Given the description of an element on the screen output the (x, y) to click on. 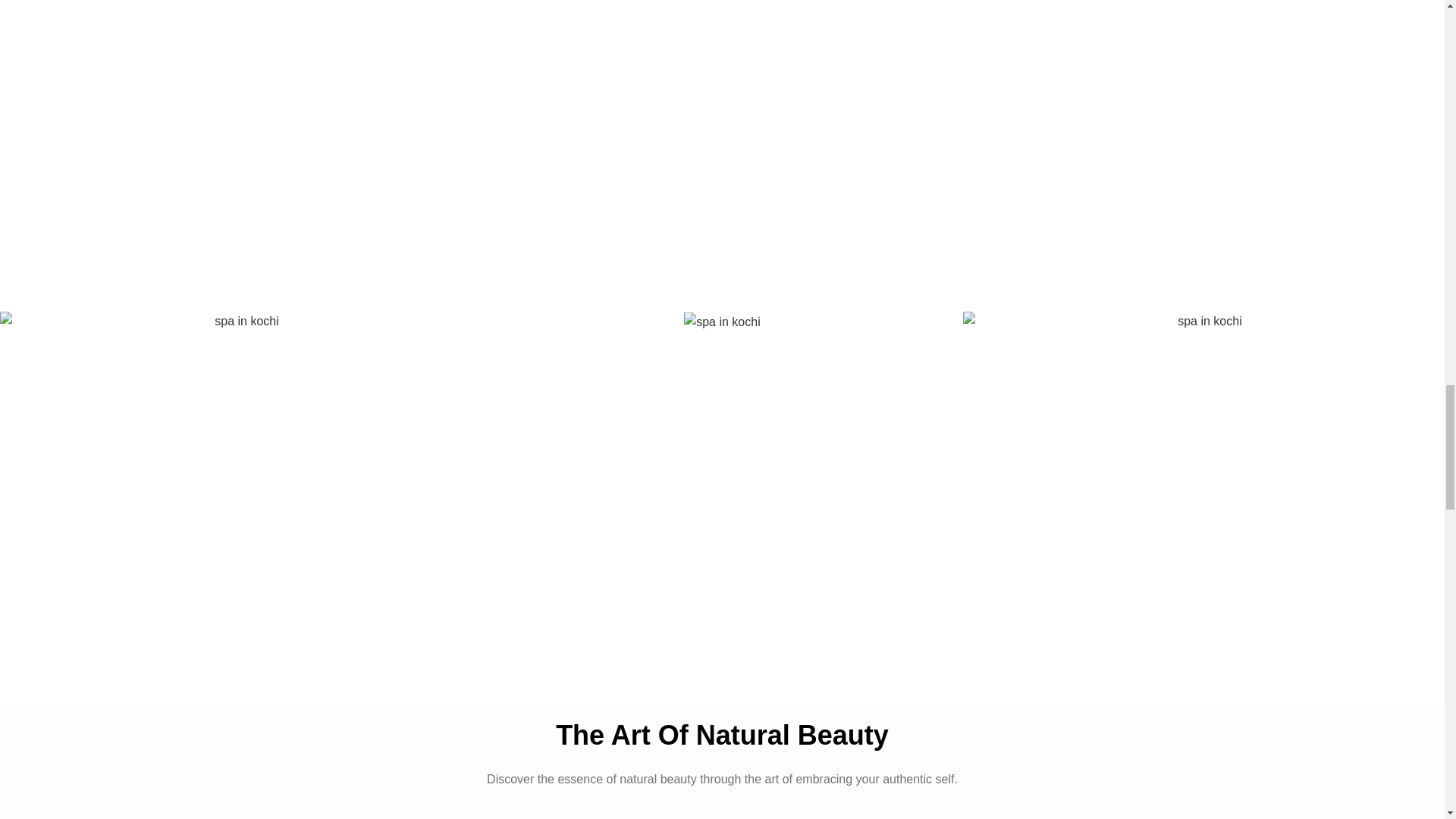
spa in kochi (722, 322)
